Given the description of an element on the screen output the (x, y) to click on. 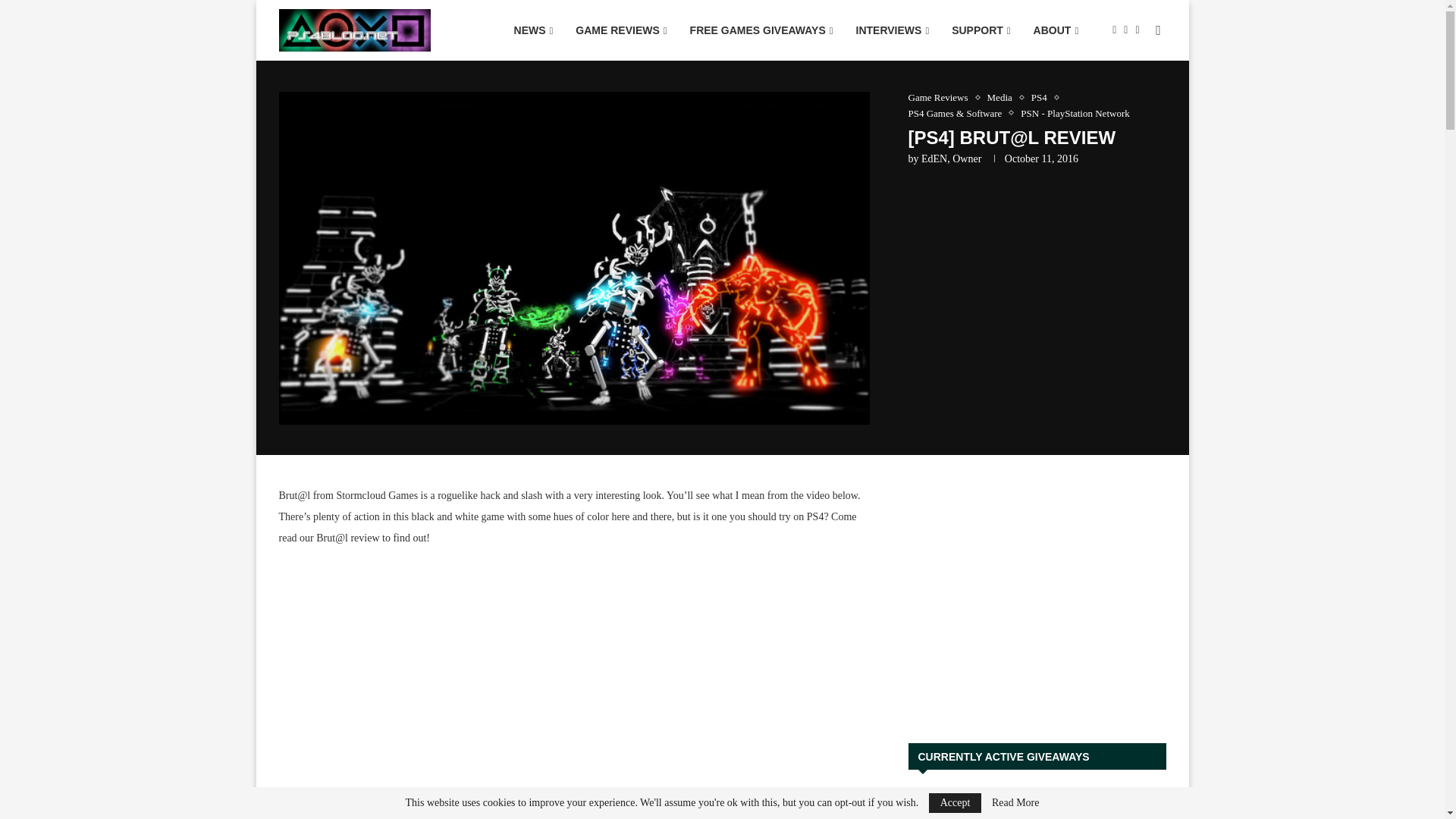
NEWS (533, 30)
FREE GAMES GIVEAWAYS (761, 30)
GAME REVIEWS (621, 30)
INTERVIEWS (892, 30)
